Given the description of an element on the screen output the (x, y) to click on. 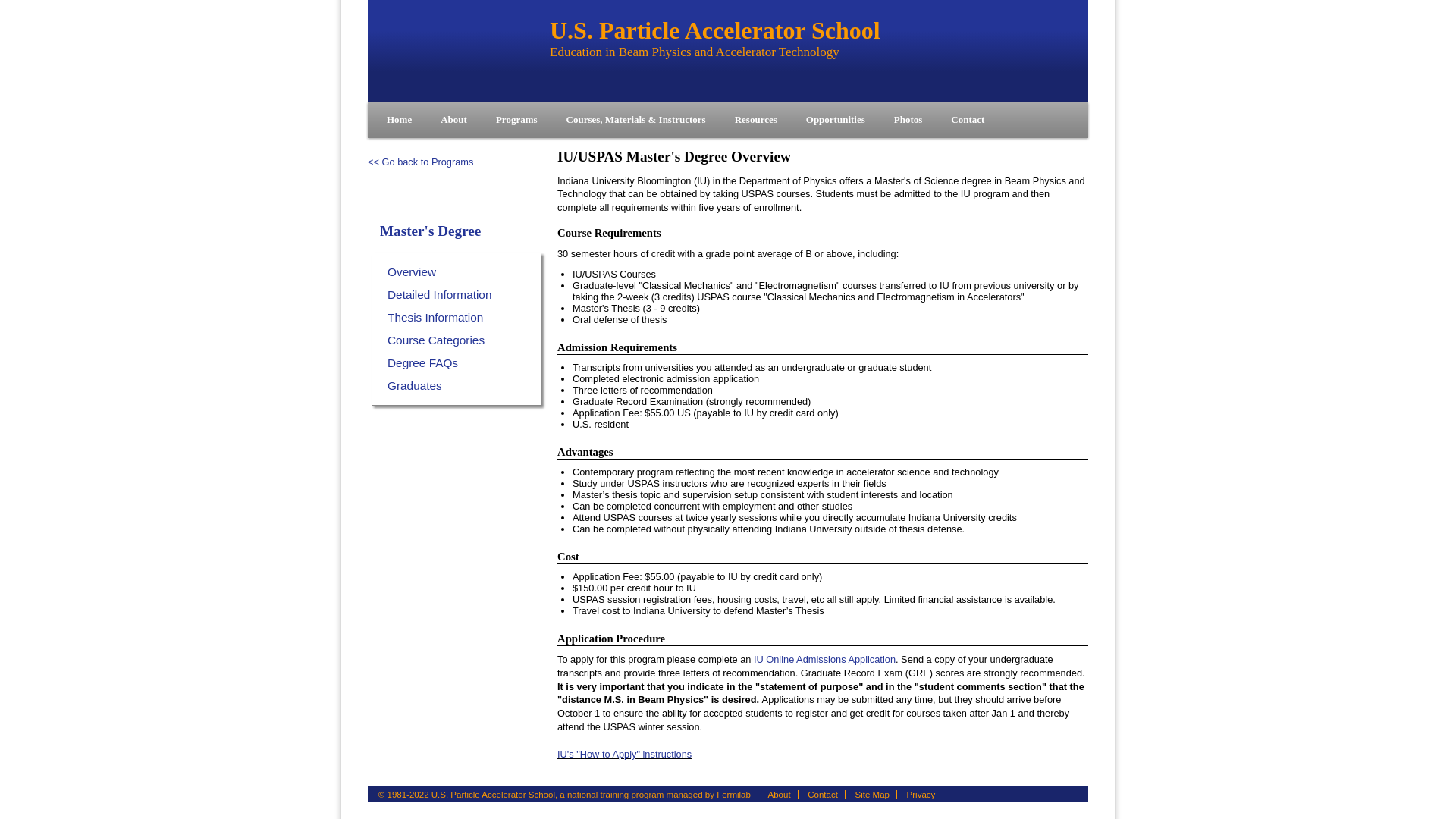
Programs (516, 119)
U.S. Particle Accelerator School (459, 50)
Home (399, 119)
Opportunities (835, 119)
Contact (967, 119)
U.S. Particle Accelerator School (459, 50)
Resources (756, 119)
About (454, 119)
Photos (908, 119)
